Given the description of an element on the screen output the (x, y) to click on. 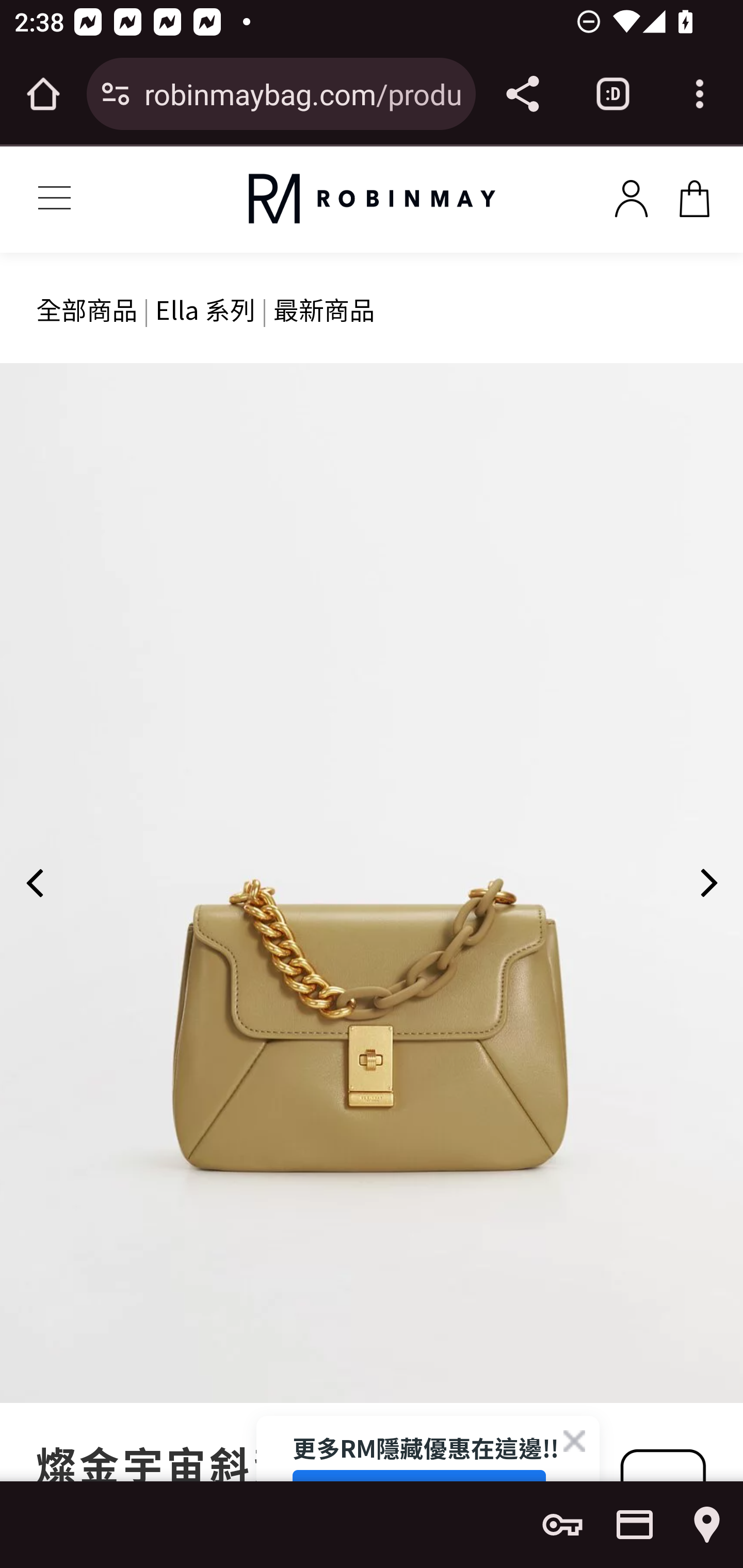
Open the home page (43, 93)
Connection is secure (115, 93)
Share (522, 93)
Switch or close tabs (612, 93)
Customize and control Google Chrome (699, 93)
original (371, 199)
x100 (631, 195)
x100 (694, 195)
全部商品 (86, 308)
Ella 系列 (205, 308)
最新商品 (323, 308)
Show saved passwords and password options (562, 1524)
Show saved payment methods (634, 1524)
Show saved addresses (706, 1524)
